Given the description of an element on the screen output the (x, y) to click on. 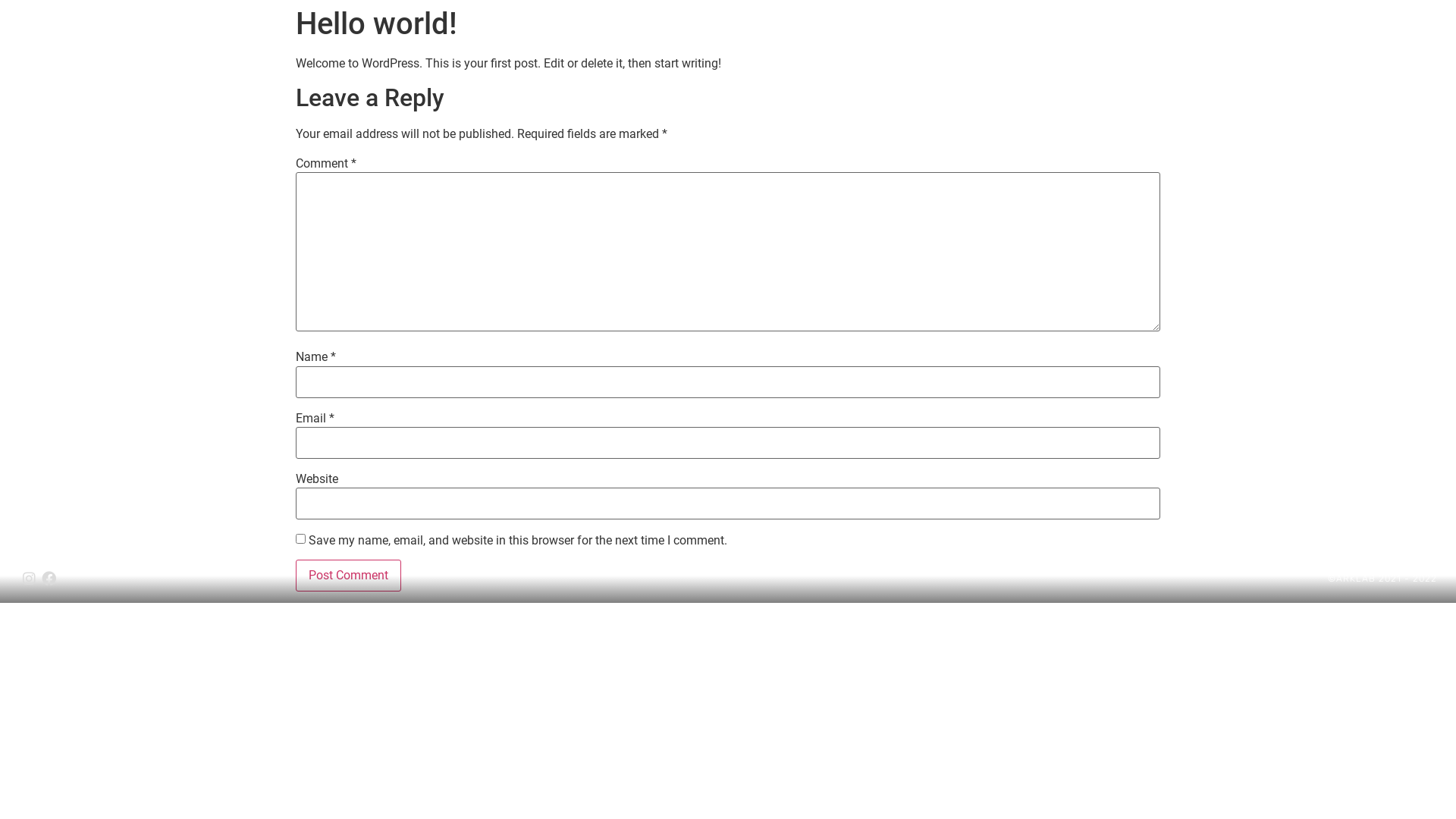
Post Comment Element type: text (348, 575)
